Given the description of an element on the screen output the (x, y) to click on. 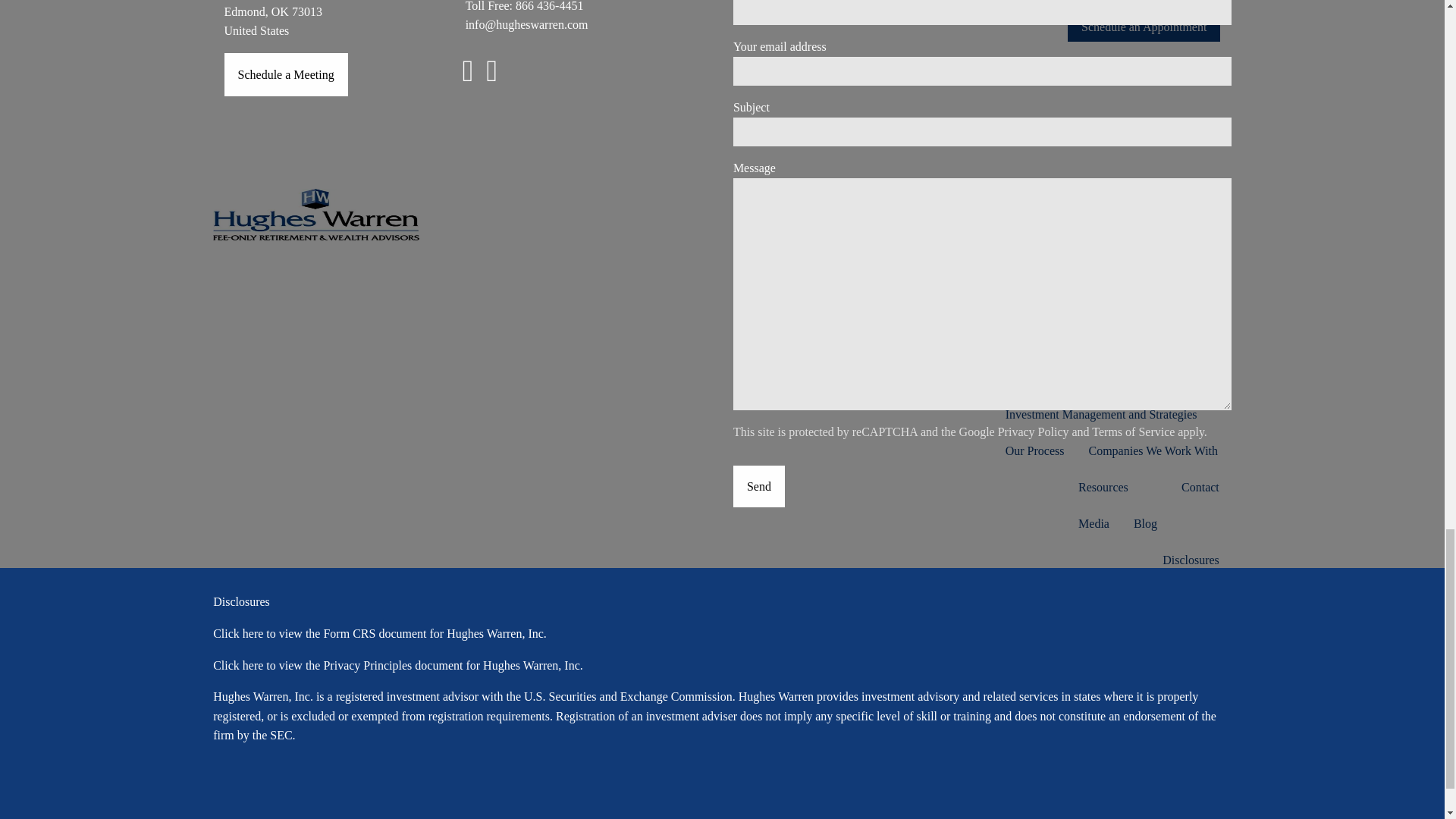
Disclosures (240, 601)
Schedule An Appointment (285, 74)
Send (758, 486)
